Given the description of an element on the screen output the (x, y) to click on. 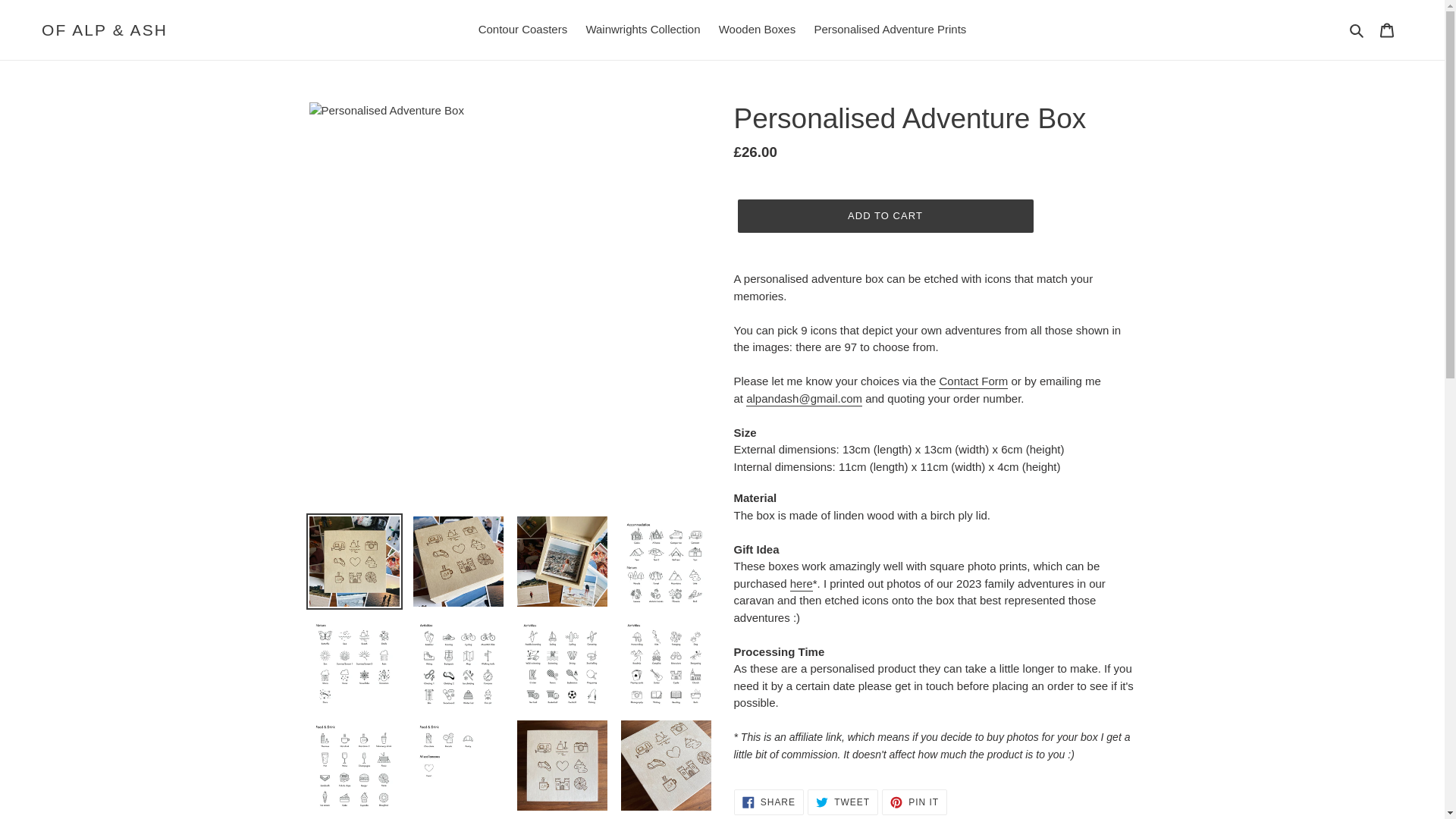
Wooden Boxes (757, 29)
Cart (1387, 29)
ADD TO CART (884, 215)
Personalised Adventure Prints (890, 29)
Contour Coasters (522, 29)
Wainwrights Collection (642, 29)
Contact Form (768, 801)
here (842, 801)
Search (973, 381)
